Given the description of an element on the screen output the (x, y) to click on. 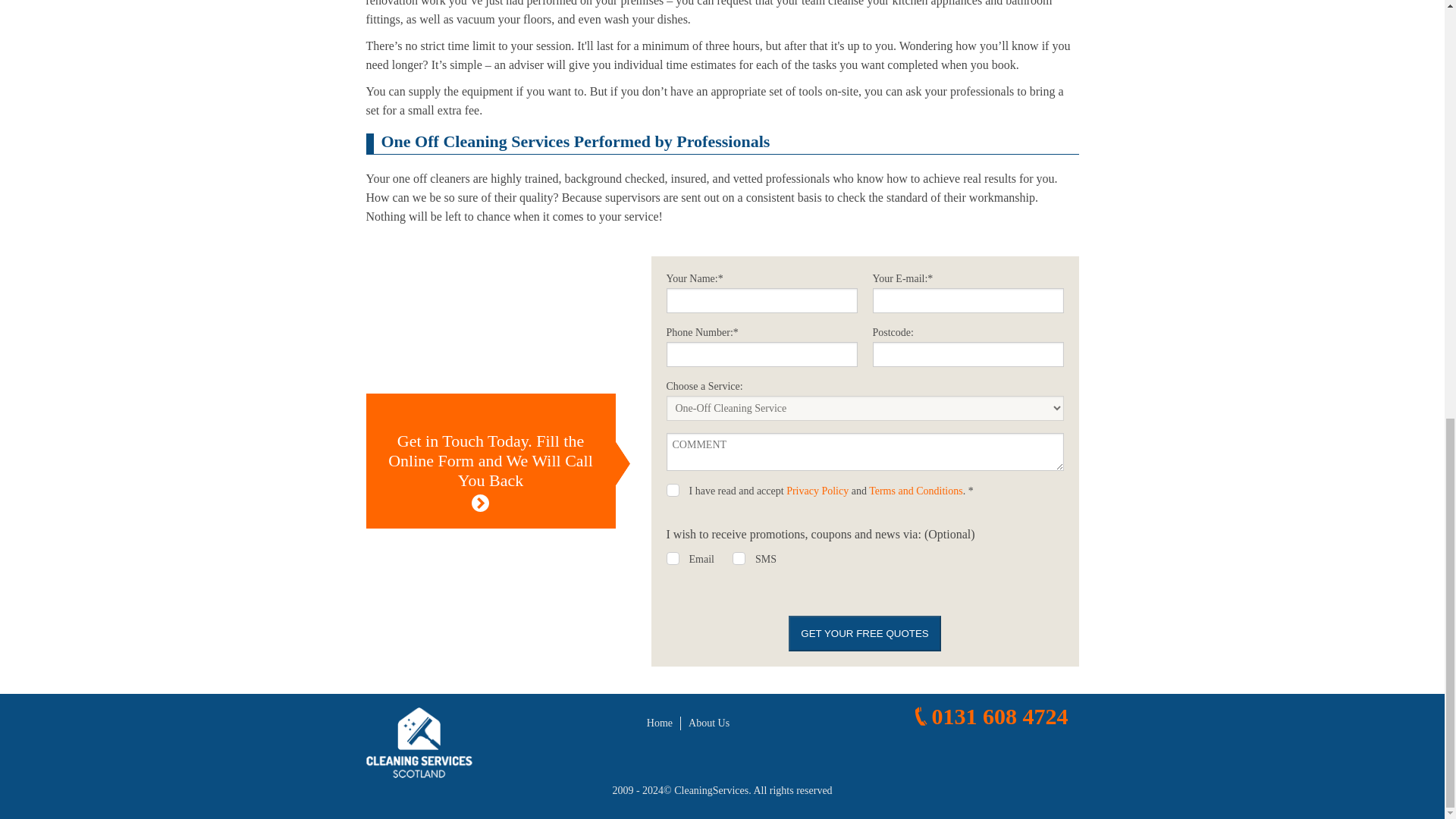
0131 608 4724 (989, 716)
Home (659, 722)
Terms and Conditions (915, 490)
Privacy Policy (817, 490)
About Us (708, 722)
Get Your Free Quotes (864, 633)
Get Your Free Quotes (864, 633)
